Given the description of an element on the screen output the (x, y) to click on. 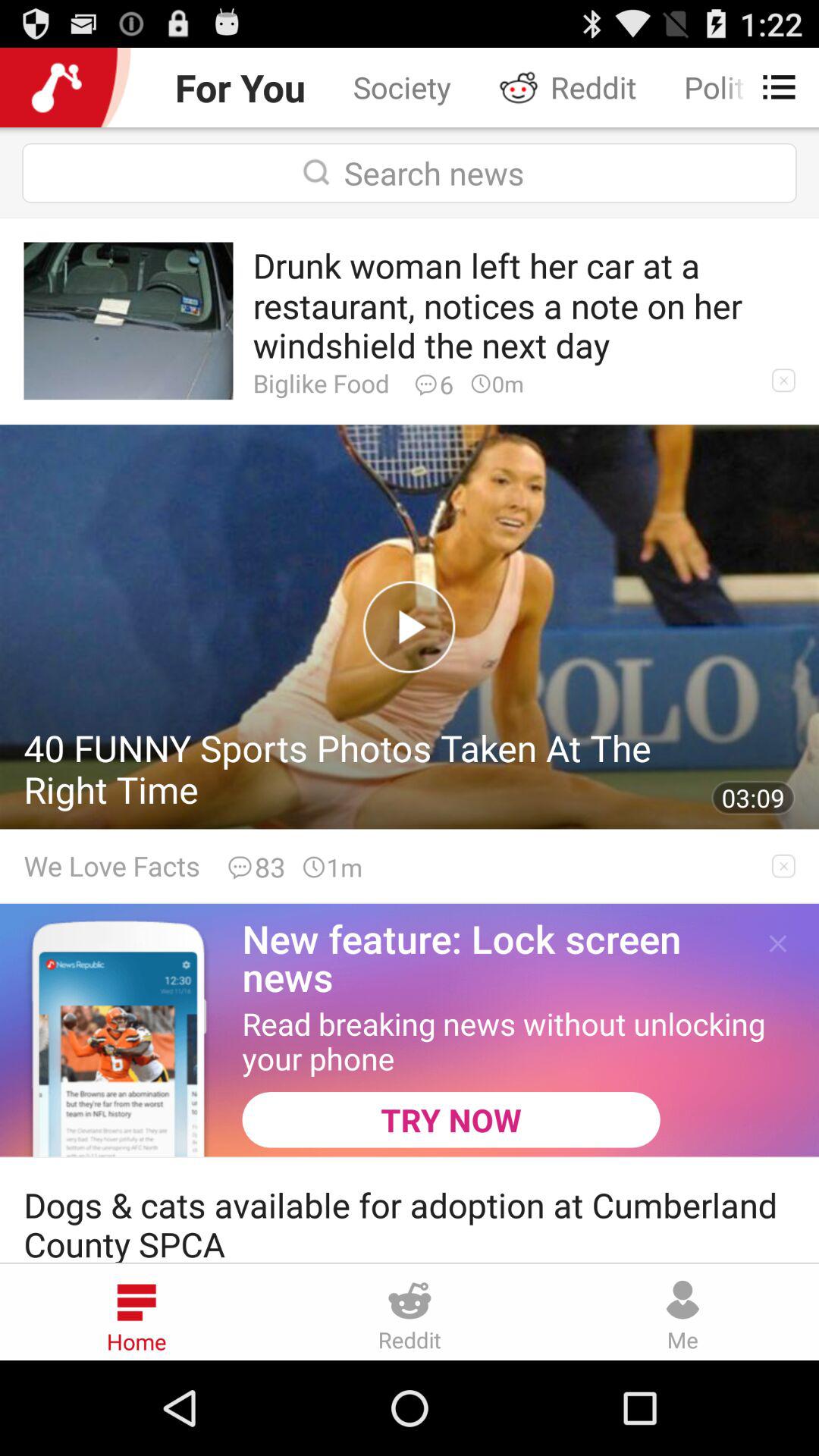
scroll to the for you app (240, 87)
